Given the description of an element on the screen output the (x, y) to click on. 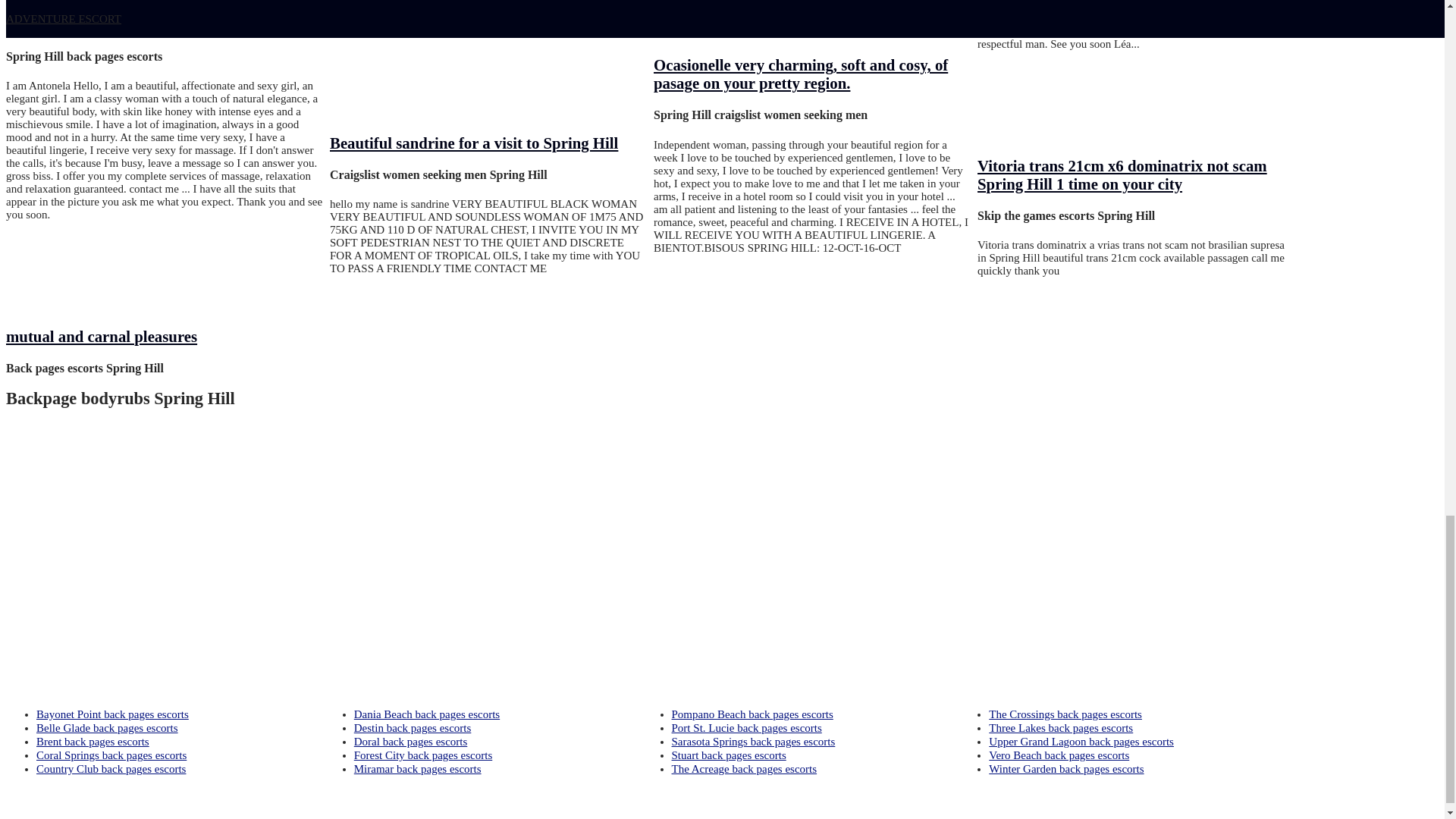
Beautiful sandrine for a visit to Spring Hill (473, 142)
mutual and carnal pleasures (100, 335)
Bella sexy antonela (70, 23)
